Given the description of an element on the screen output the (x, y) to click on. 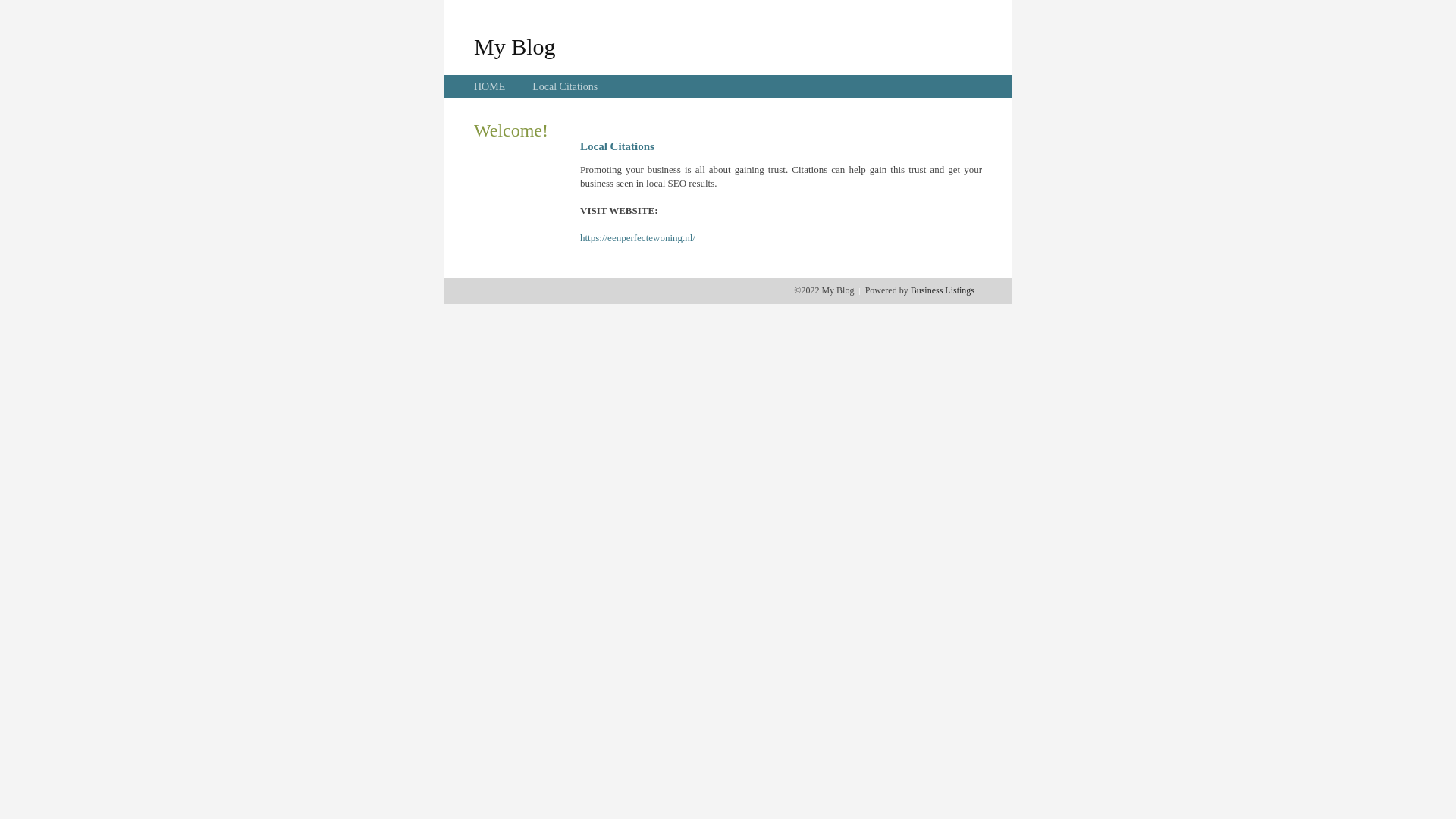
My Blog Element type: text (514, 46)
HOME Element type: text (489, 86)
Business Listings Element type: text (942, 290)
Local Citations Element type: text (564, 86)
https://eenperfectewoning.nl/ Element type: text (637, 237)
